Given the description of an element on the screen output the (x, y) to click on. 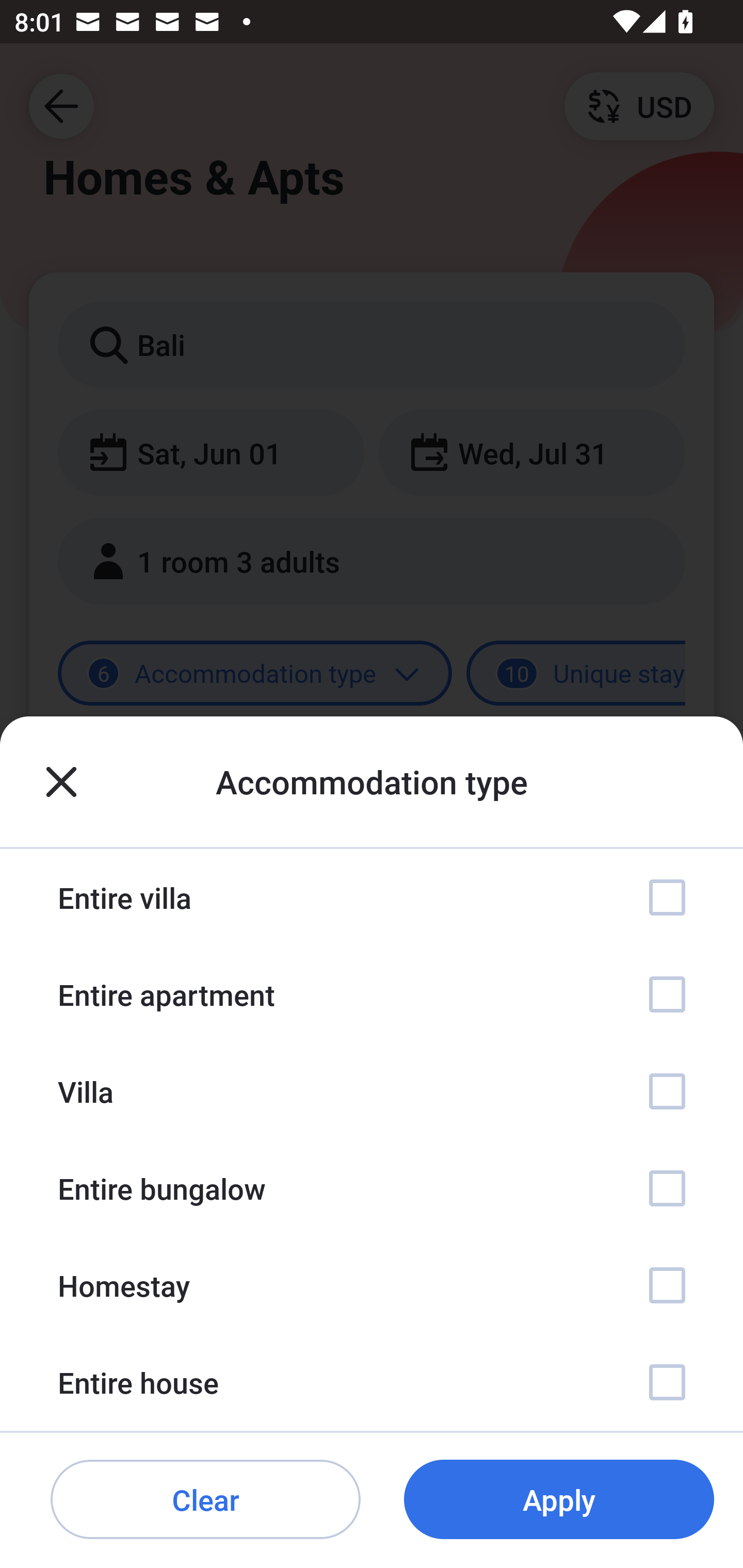
Entire villa (371, 897)
Entire apartment (371, 994)
Villa (371, 1091)
Entire bungalow (371, 1188)
Homestay (371, 1284)
Entire house (371, 1382)
Clear (205, 1499)
Apply (559, 1499)
